Given the description of an element on the screen output the (x, y) to click on. 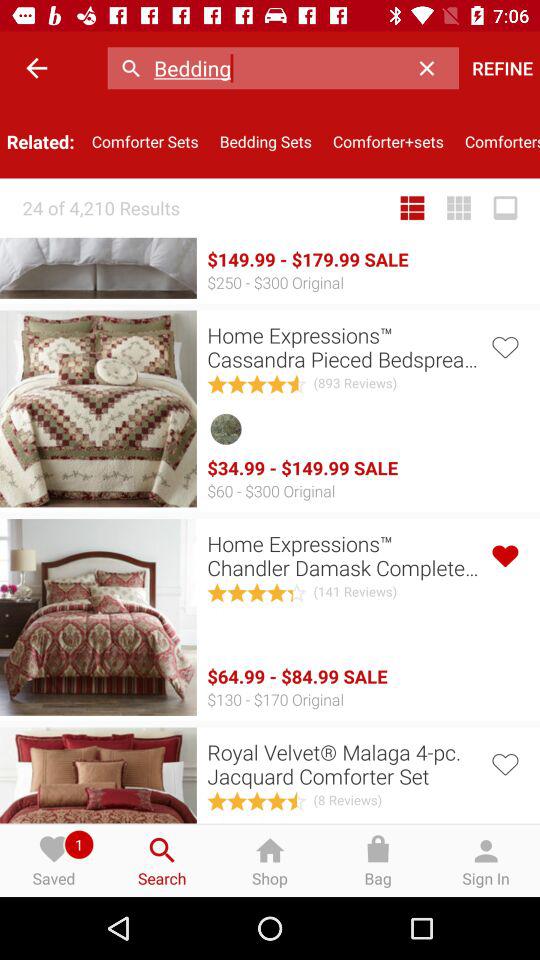
tap item to the right of the comforter sets item (265, 141)
